Given the description of an element on the screen output the (x, y) to click on. 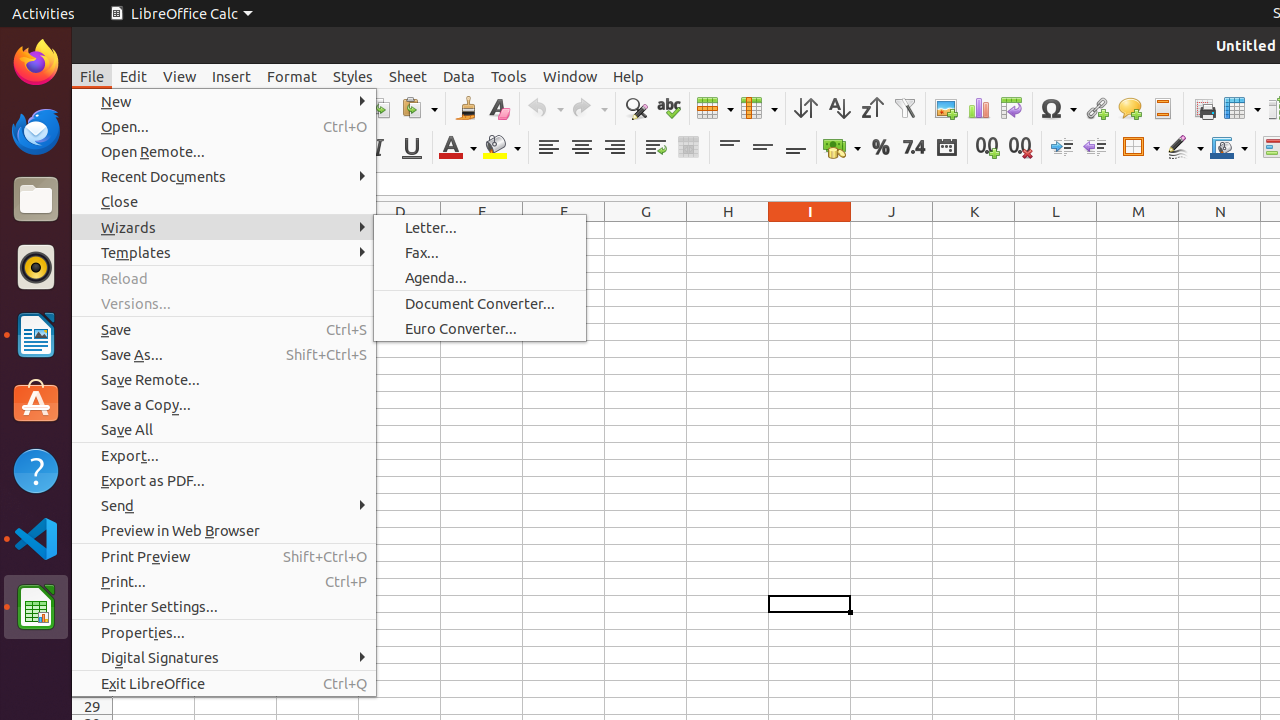
Sort Element type: push-button (805, 108)
Agenda... Element type: menu-item (480, 277)
Merge and Center Cells Element type: push-button (688, 147)
Pivot Table Element type: push-button (1011, 108)
Add Decimal Place Element type: push-button (987, 147)
